Given the description of an element on the screen output the (x, y) to click on. 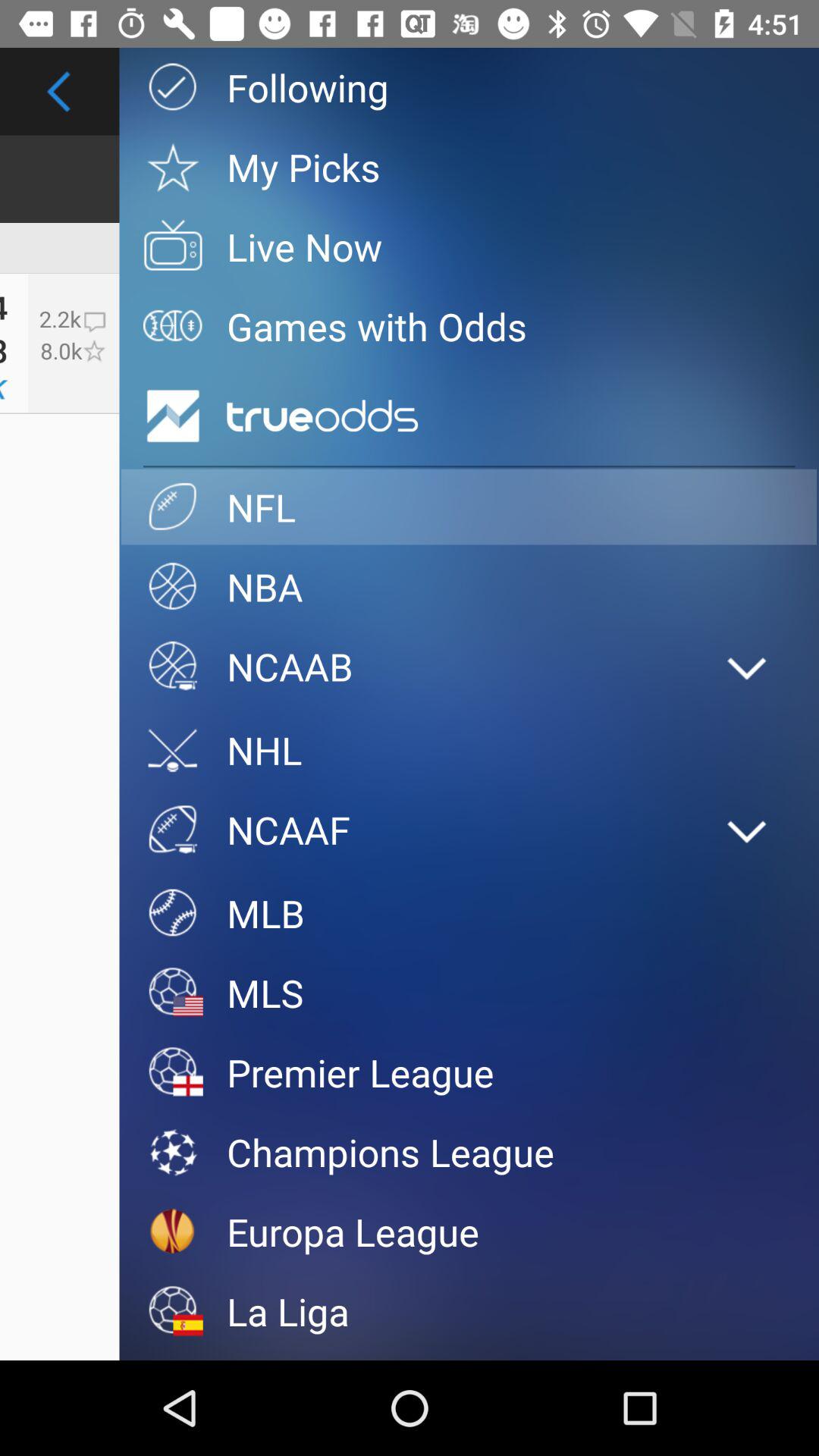
click the 2nd drop down button on the web page (747, 831)
